Given the description of an element on the screen output the (x, y) to click on. 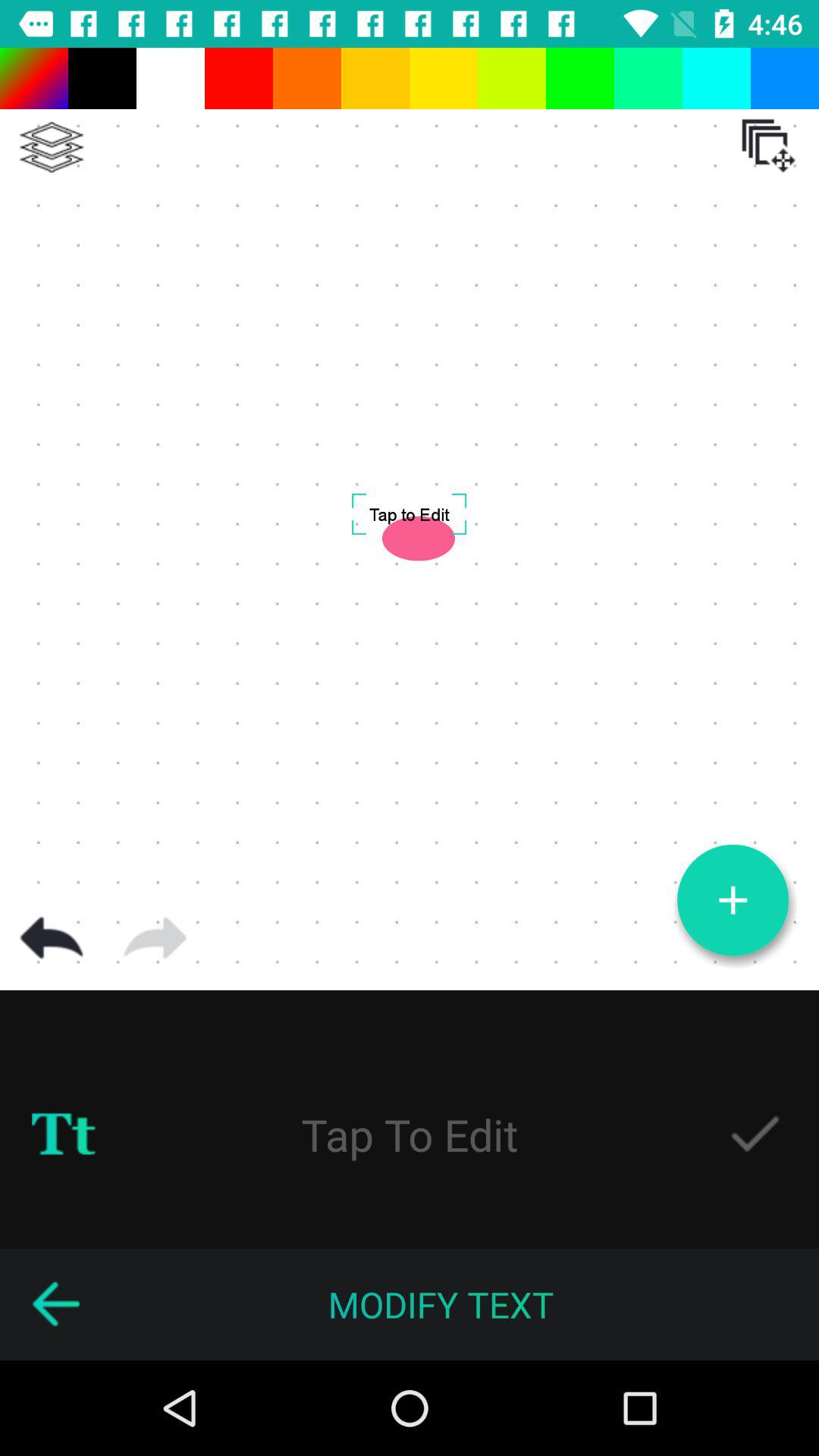
go to previous page (55, 1304)
